Given the description of an element on the screen output the (x, y) to click on. 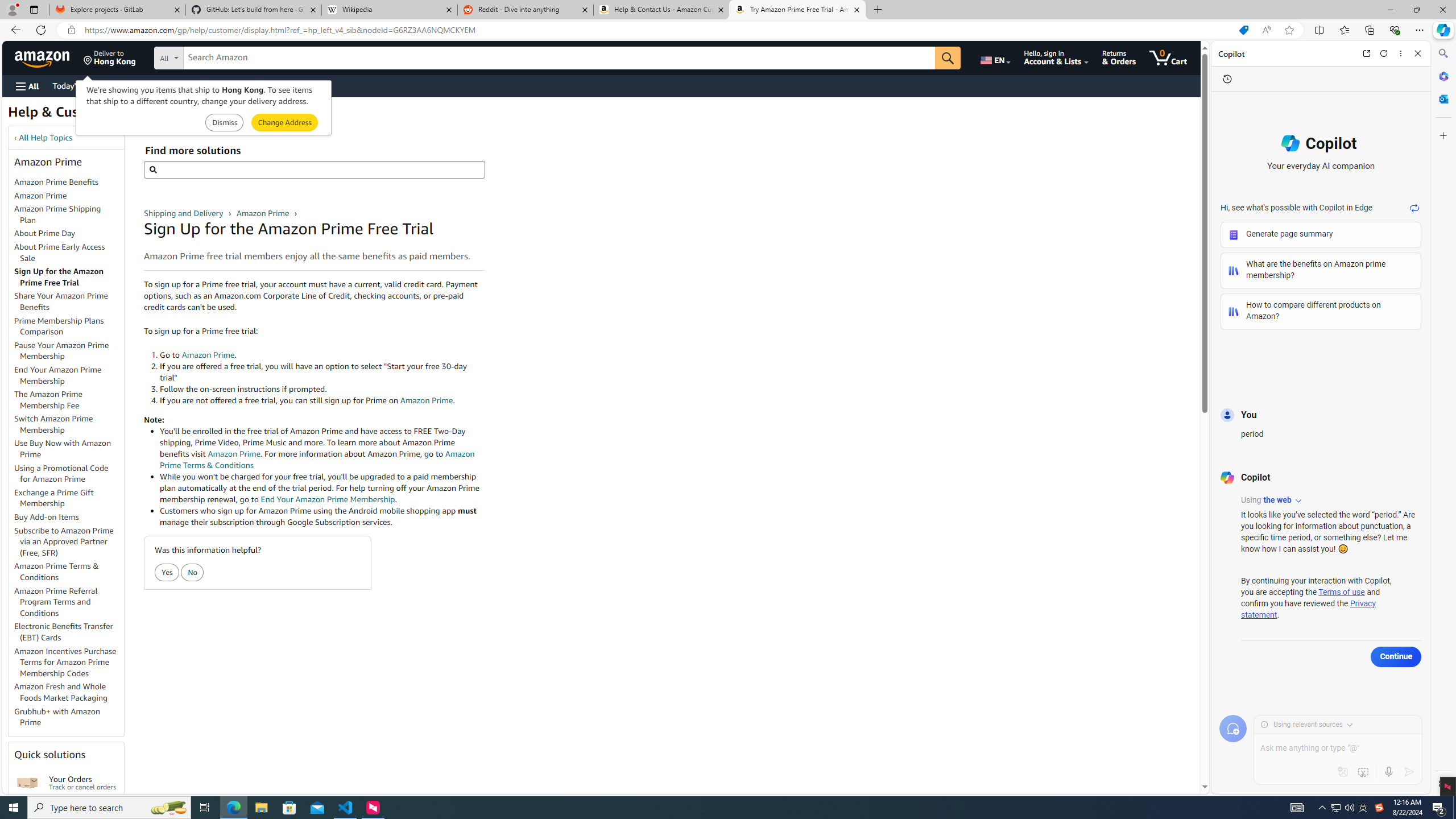
Sign Up for the Amazon Prime Free Trial (68, 277)
Amazon (43, 57)
Prime Membership Plans Comparison (68, 326)
Go to Amazon Prime. (322, 354)
The Amazon Prime Membership Fee (48, 399)
Amazon Prime Referral Program Terms and Conditions (55, 601)
Exchange a Prime Gift Membership (53, 497)
No (192, 572)
Search in (210, 58)
